Given the description of an element on the screen output the (x, y) to click on. 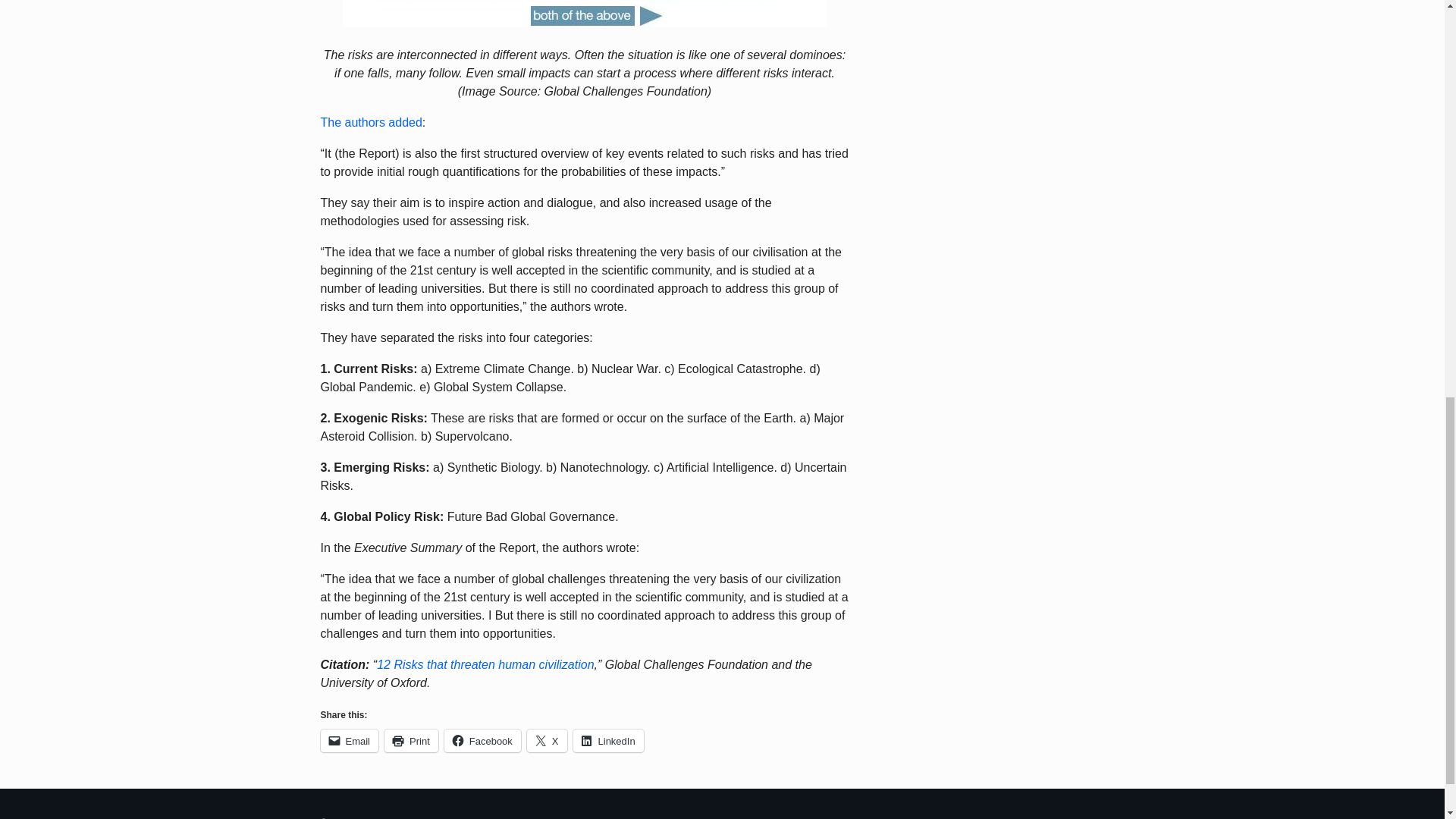
Facebook (482, 740)
Email (349, 740)
Print (411, 740)
Click to share on LinkedIn (608, 740)
The authors added (371, 122)
Click to share on X (547, 740)
Click to email a link to a friend (349, 740)
X (547, 740)
LinkedIn (608, 740)
12 Risks that threaten human civilization (485, 664)
